Given the description of an element on the screen output the (x, y) to click on. 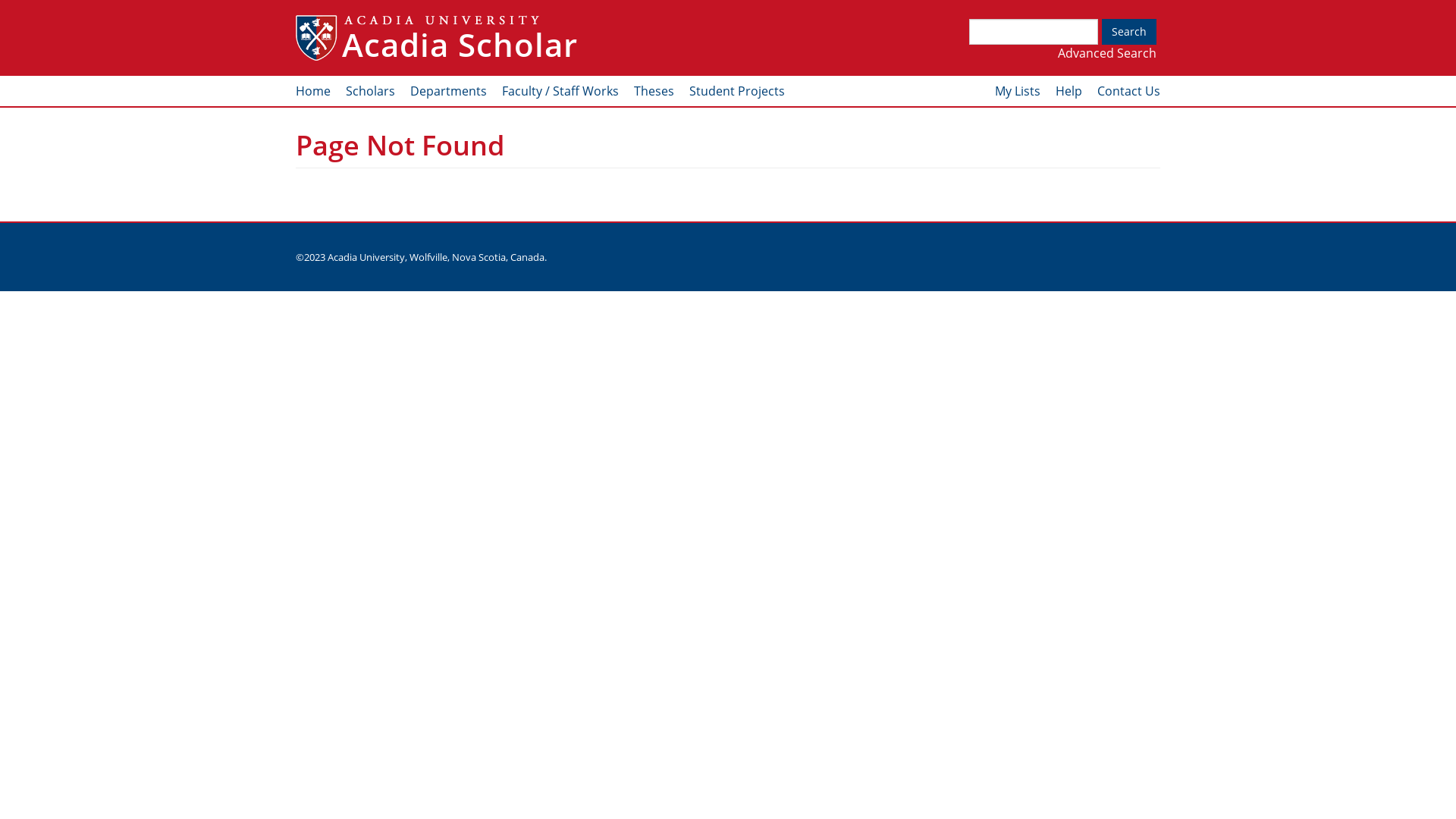
Theses Element type: text (653, 90)
Student Projects Element type: text (736, 90)
Faculty / Staff Works Element type: text (560, 90)
Acadia Scholar Element type: text (459, 44)
Search Element type: text (1128, 31)
Help Element type: text (1068, 90)
Skip to main content Element type: text (0, 0)
Advanced Search Element type: text (1106, 52)
Departments Element type: text (448, 90)
Scholars Element type: text (370, 90)
My Lists Element type: text (1017, 90)
Contact Us Element type: text (1128, 90)
Home Element type: text (312, 90)
